Given the description of an element on the screen output the (x, y) to click on. 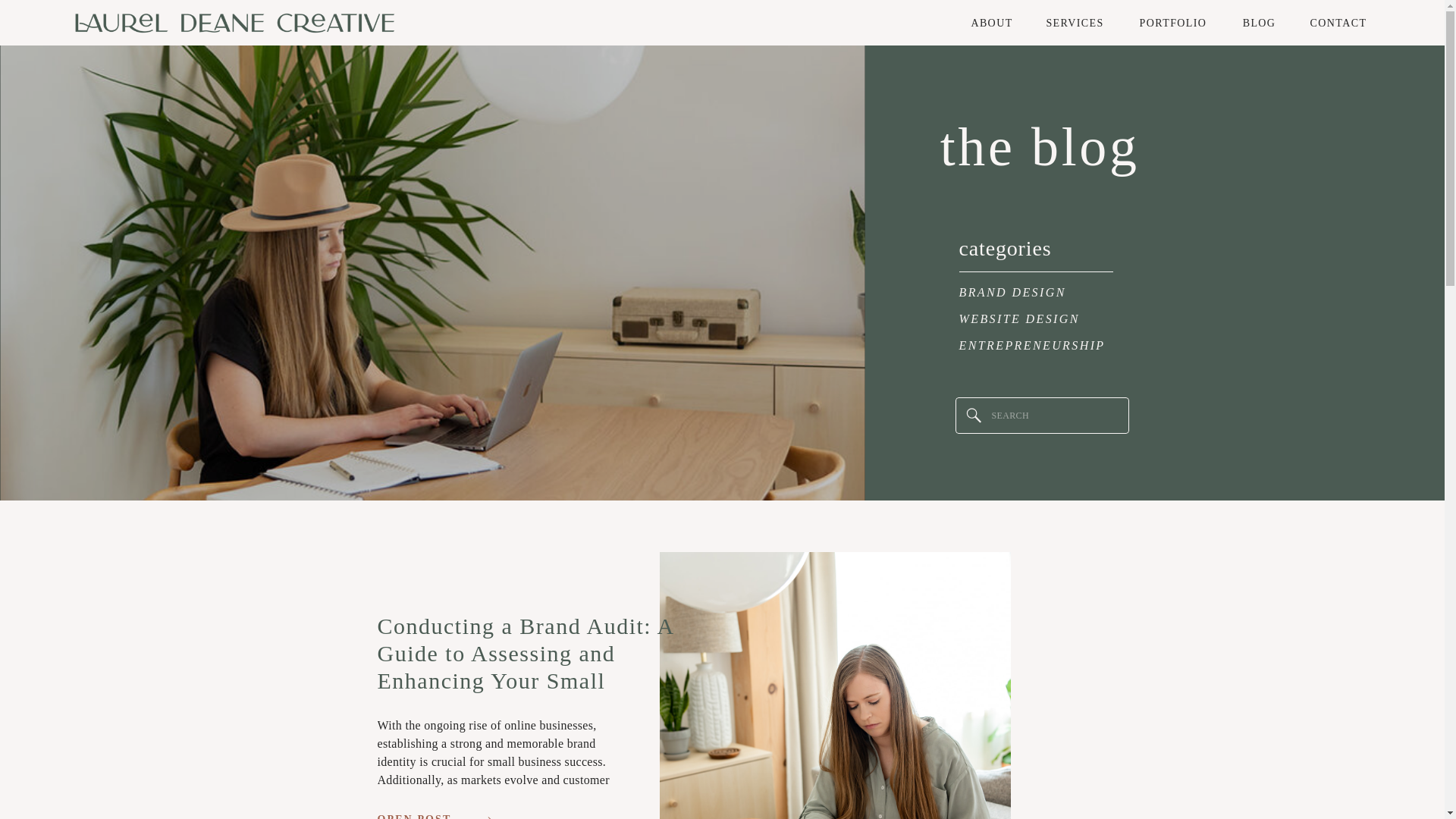
BLOG (1259, 22)
CONTACT (1337, 22)
ABOUT (991, 22)
OPEN POST (420, 816)
ENTREPRENEURSHIP (1045, 345)
PORTFOLIO (1173, 22)
SERVICES (1074, 22)
WEBSITE DESIGN (1038, 319)
BRAND DESIGN (1038, 292)
